Given the description of an element on the screen output the (x, y) to click on. 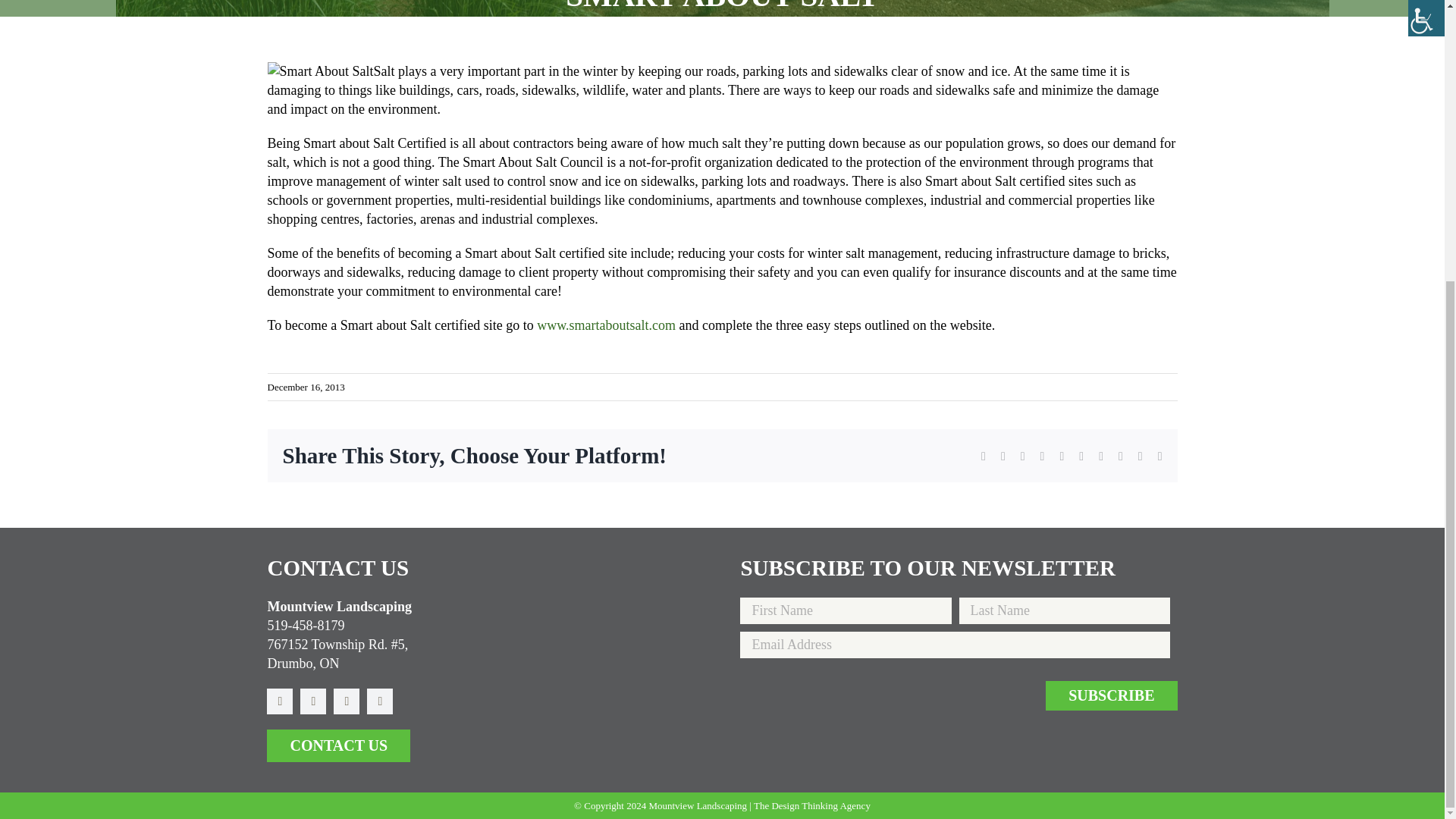
Pinterest (346, 701)
Smart About Salt (606, 324)
Instagram (312, 701)
www.smartaboutsalt.com (606, 324)
LinkedIn (379, 701)
Subscribe (1110, 695)
Facebook (279, 701)
